Given the description of an element on the screen output the (x, y) to click on. 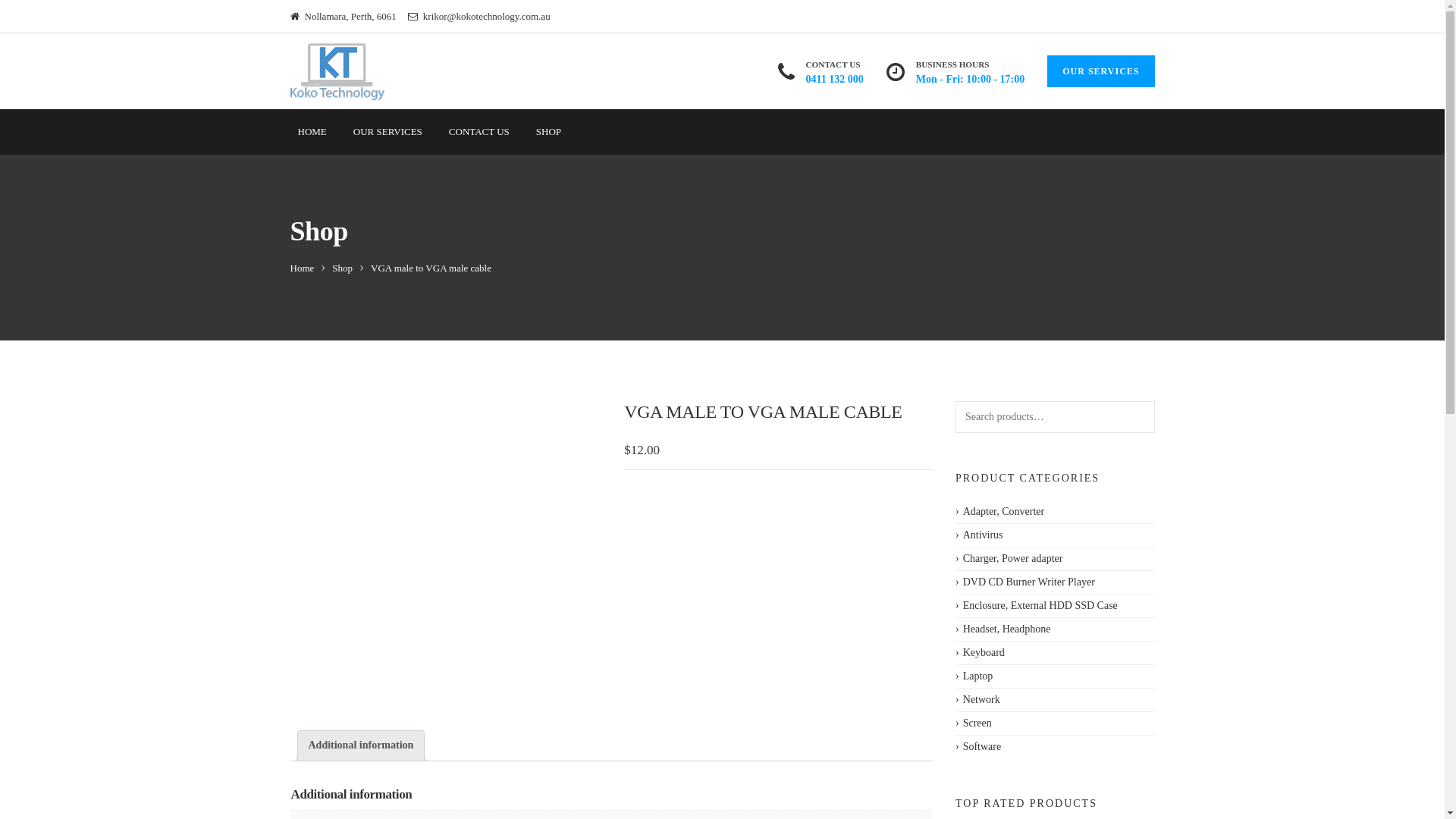
Charger, Power adapter Element type: text (1008, 558)
Headset, Headphone Element type: text (1003, 629)
Software Element type: text (978, 746)
Search Element type: text (36, 15)
0411 132 000 Element type: text (834, 78)
Shop Element type: text (342, 267)
CONTACT US Element type: text (479, 131)
Antivirus Element type: text (979, 535)
Network Element type: text (977, 699)
Koko Technology Element type: hover (336, 70)
Screen Element type: text (973, 723)
Keyboard Element type: text (979, 652)
Laptop Element type: text (973, 676)
Enclosure, External HDD SSD Case Element type: text (1036, 605)
DVD CD Burner Writer Player Element type: text (1025, 582)
HOME Element type: text (311, 131)
SHOP Element type: text (548, 131)
Additional information Element type: text (360, 745)
Home Element type: text (301, 267)
OUR SERVICES Element type: text (387, 131)
OUR SERVICES Element type: text (1100, 71)
Adapter, Converter Element type: text (999, 511)
